Given the description of an element on the screen output the (x, y) to click on. 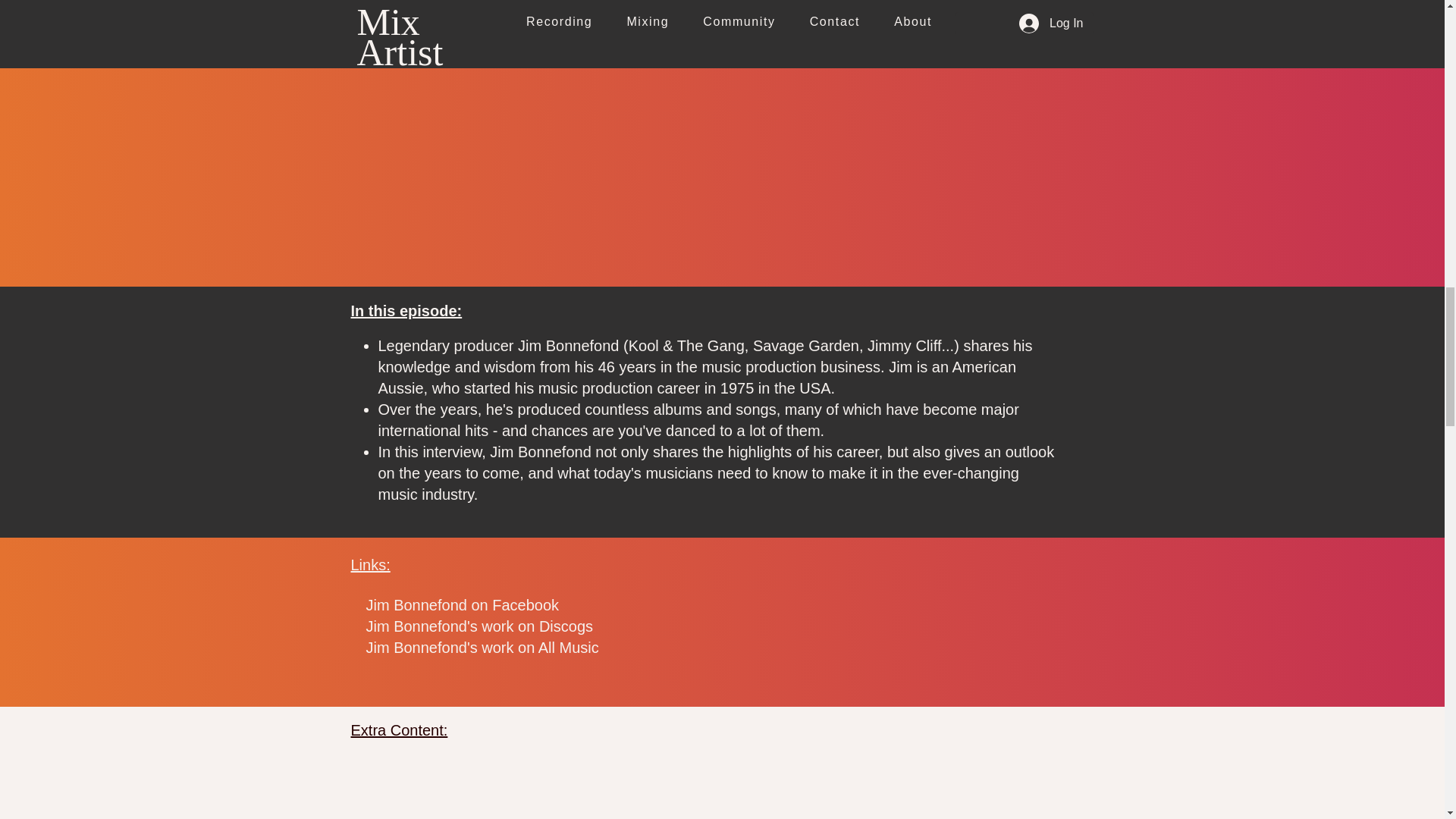
Jim Bonnefond's work on Discogs (478, 626)
Jim Bonnefond's work on All Music (481, 647)
Jim Bonnefond on Facebook (462, 605)
